Given the description of an element on the screen output the (x, y) to click on. 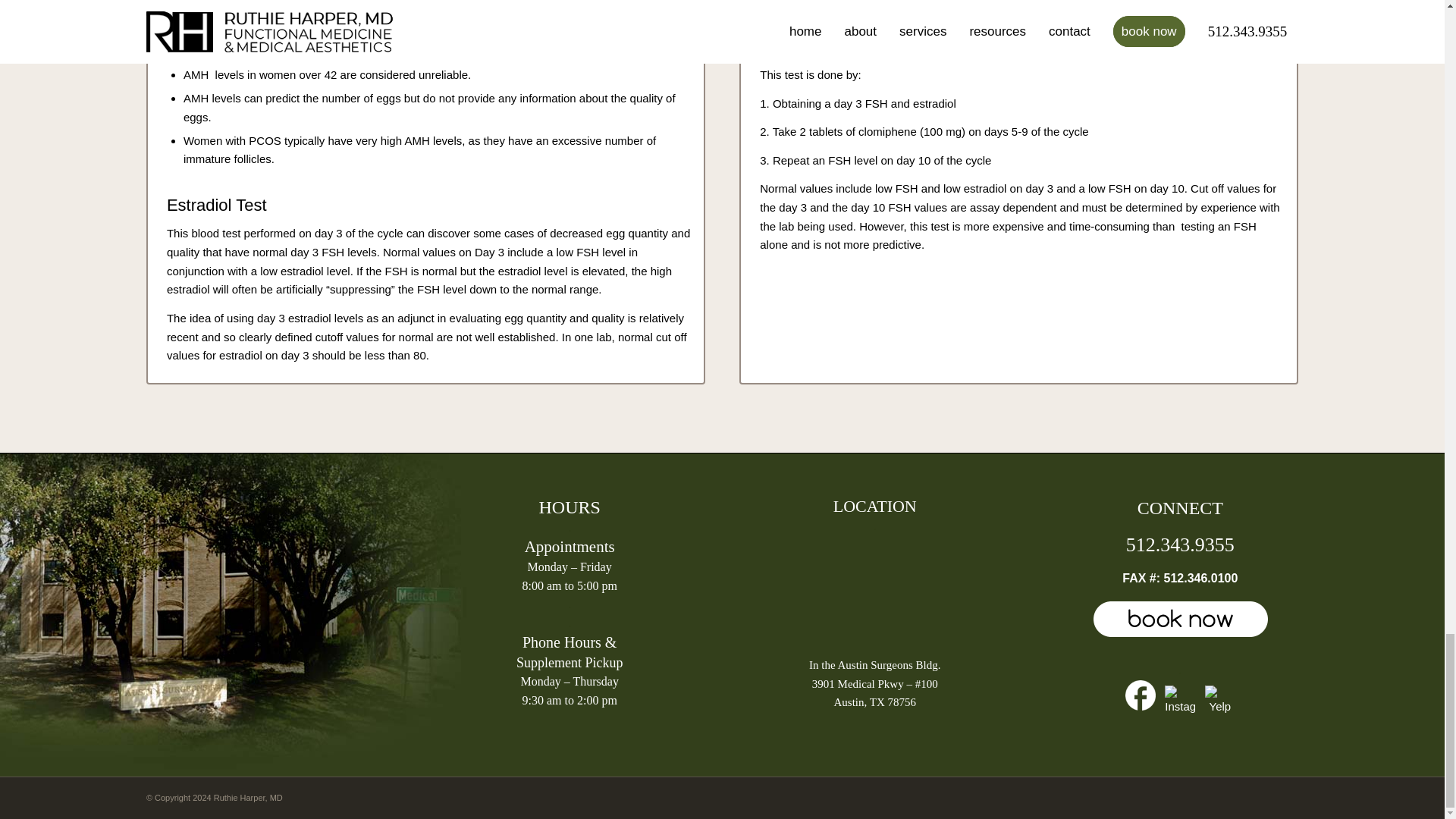
Yelp (1219, 700)
Instagram (1179, 700)
